Given the description of an element on the screen output the (x, y) to click on. 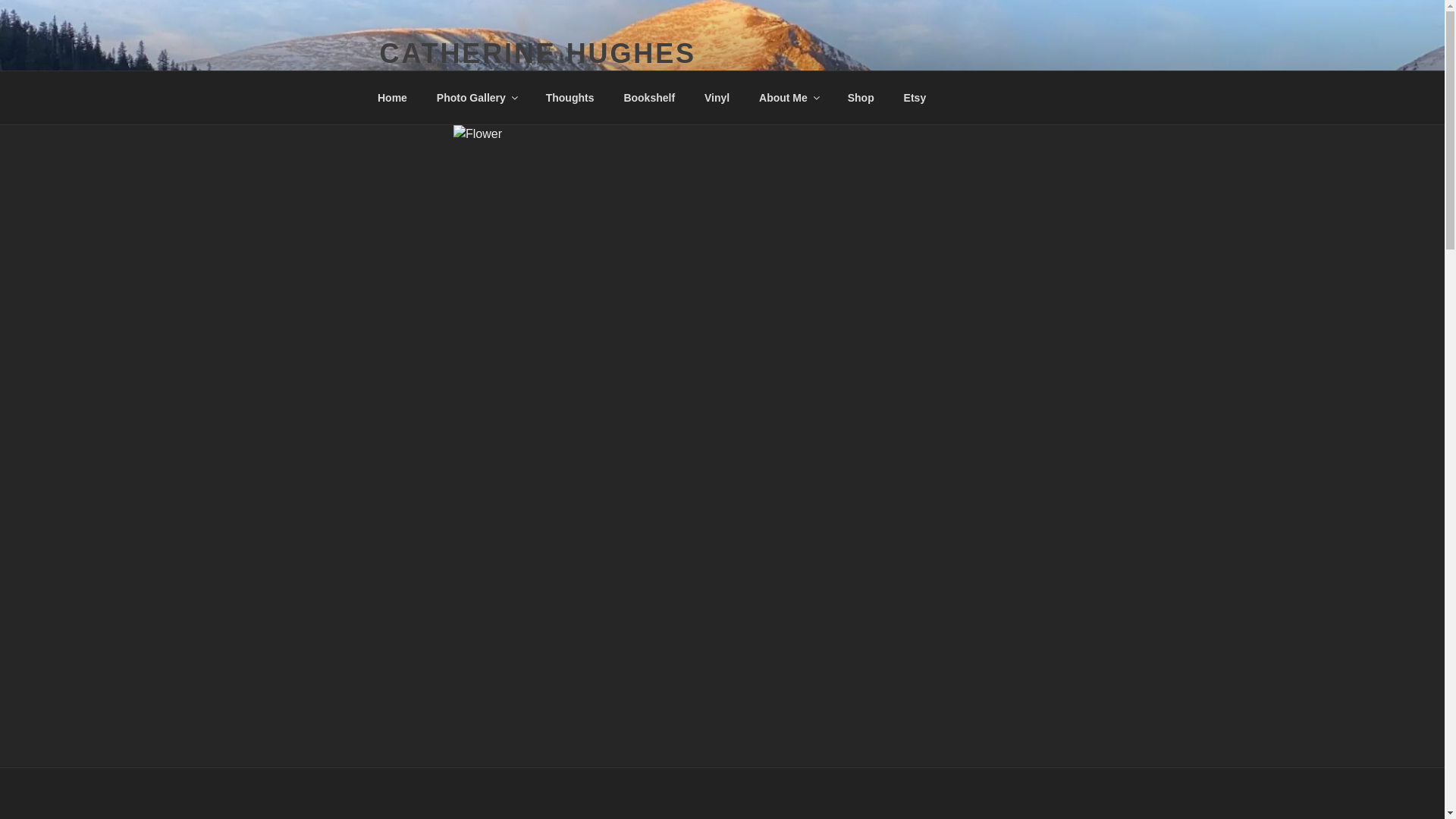
Etsy (914, 97)
Home (392, 97)
Vinyl (716, 97)
Shop (860, 97)
Photo Gallery (476, 97)
Thoughts (569, 97)
About Me (788, 97)
CATHERINE HUGHES (536, 52)
Bookshelf (649, 97)
